Given the description of an element on the screen output the (x, y) to click on. 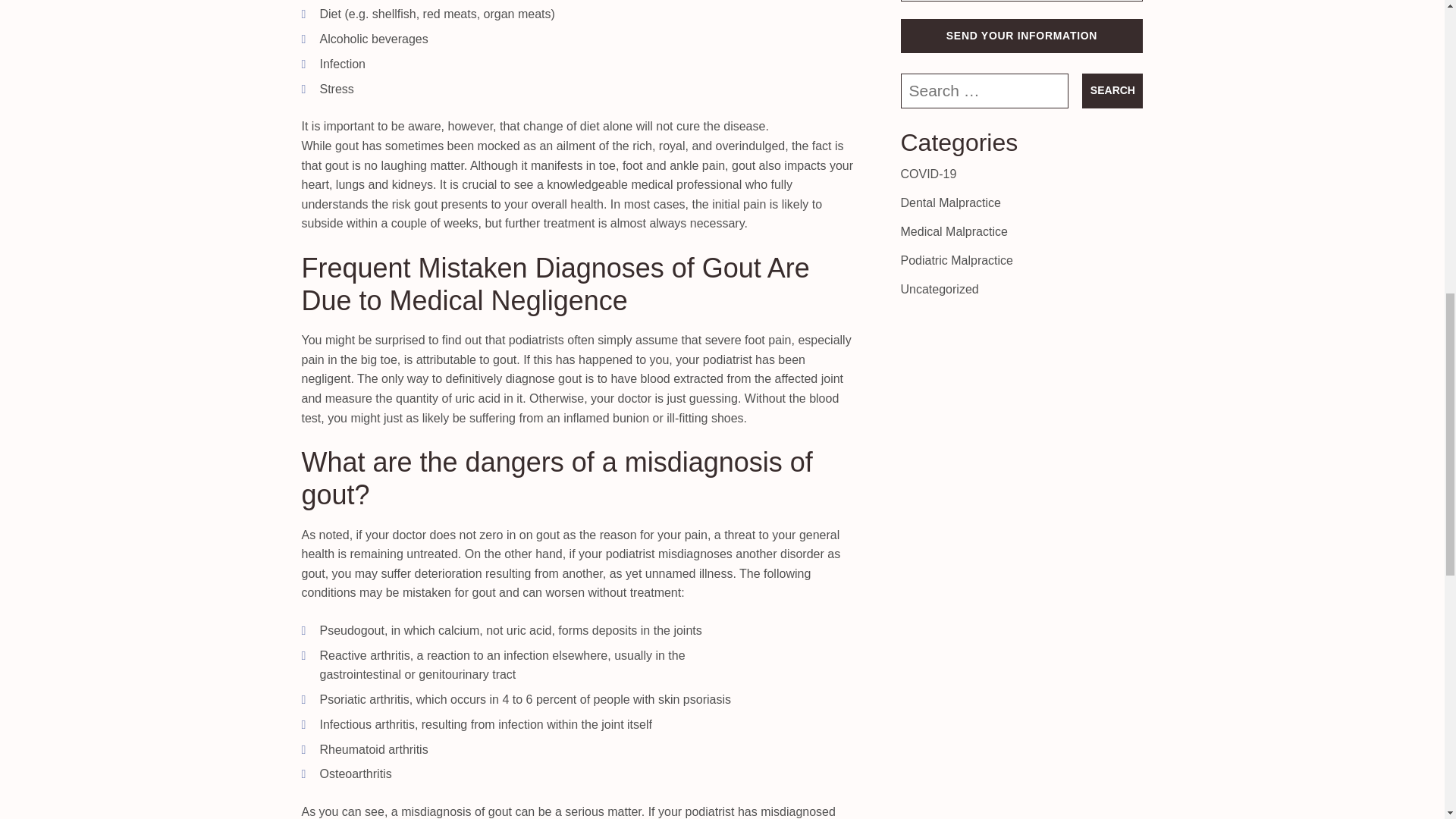
COVID-19 (928, 173)
Search (1111, 90)
SEND YOUR INFORMATION (1021, 35)
Search (1111, 90)
Search (1111, 90)
Uncategorized (939, 288)
Search for: (984, 90)
Dental Malpractice (951, 202)
Medical Malpractice (954, 231)
Podiatric Malpractice (957, 259)
